Given the description of an element on the screen output the (x, y) to click on. 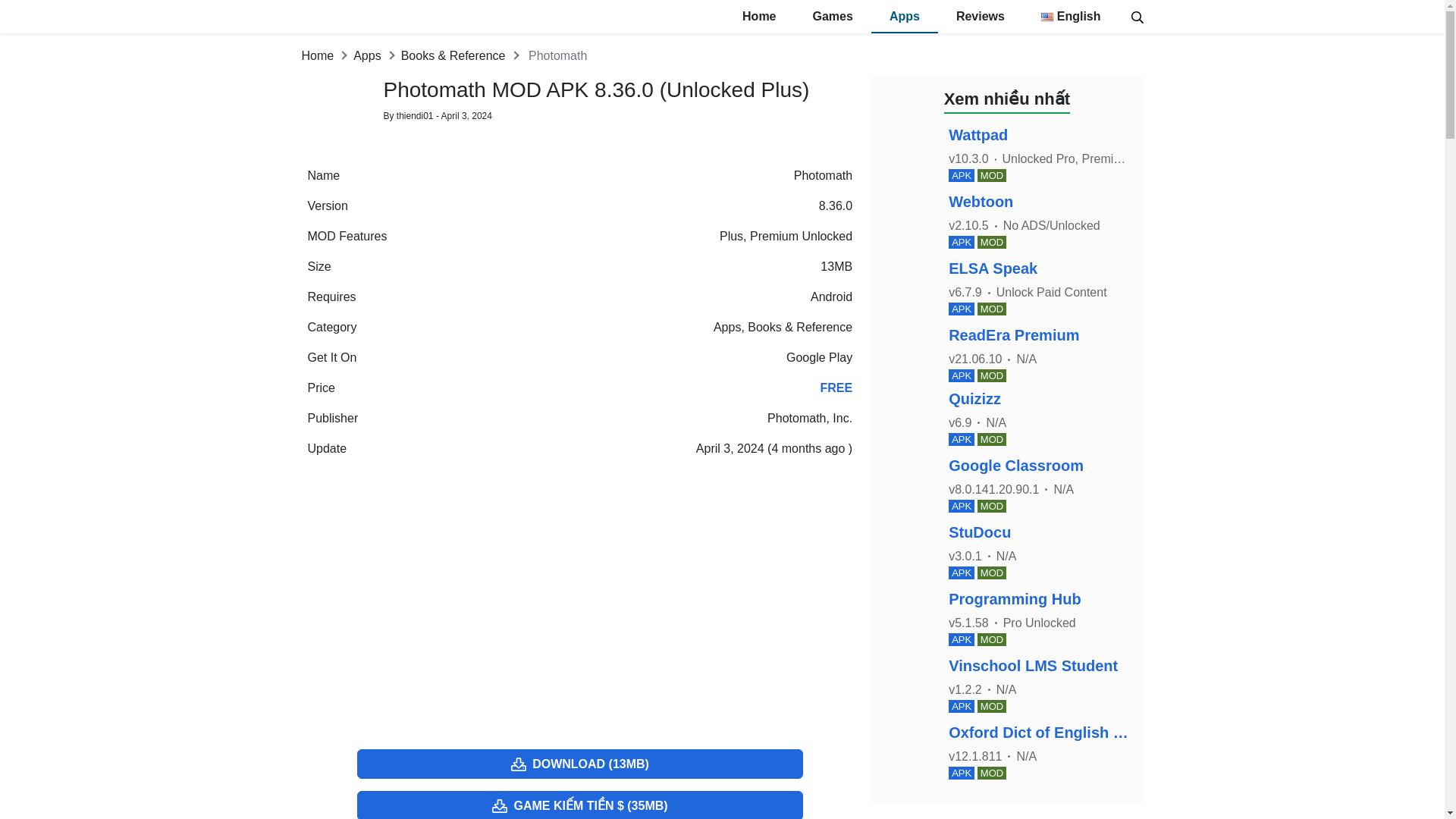
Home (317, 55)
Home (758, 16)
Apps (366, 55)
Home (317, 55)
Reviews (980, 16)
Games (832, 16)
Google Play (818, 357)
Apps (727, 327)
English (1071, 16)
